Given the description of an element on the screen output the (x, y) to click on. 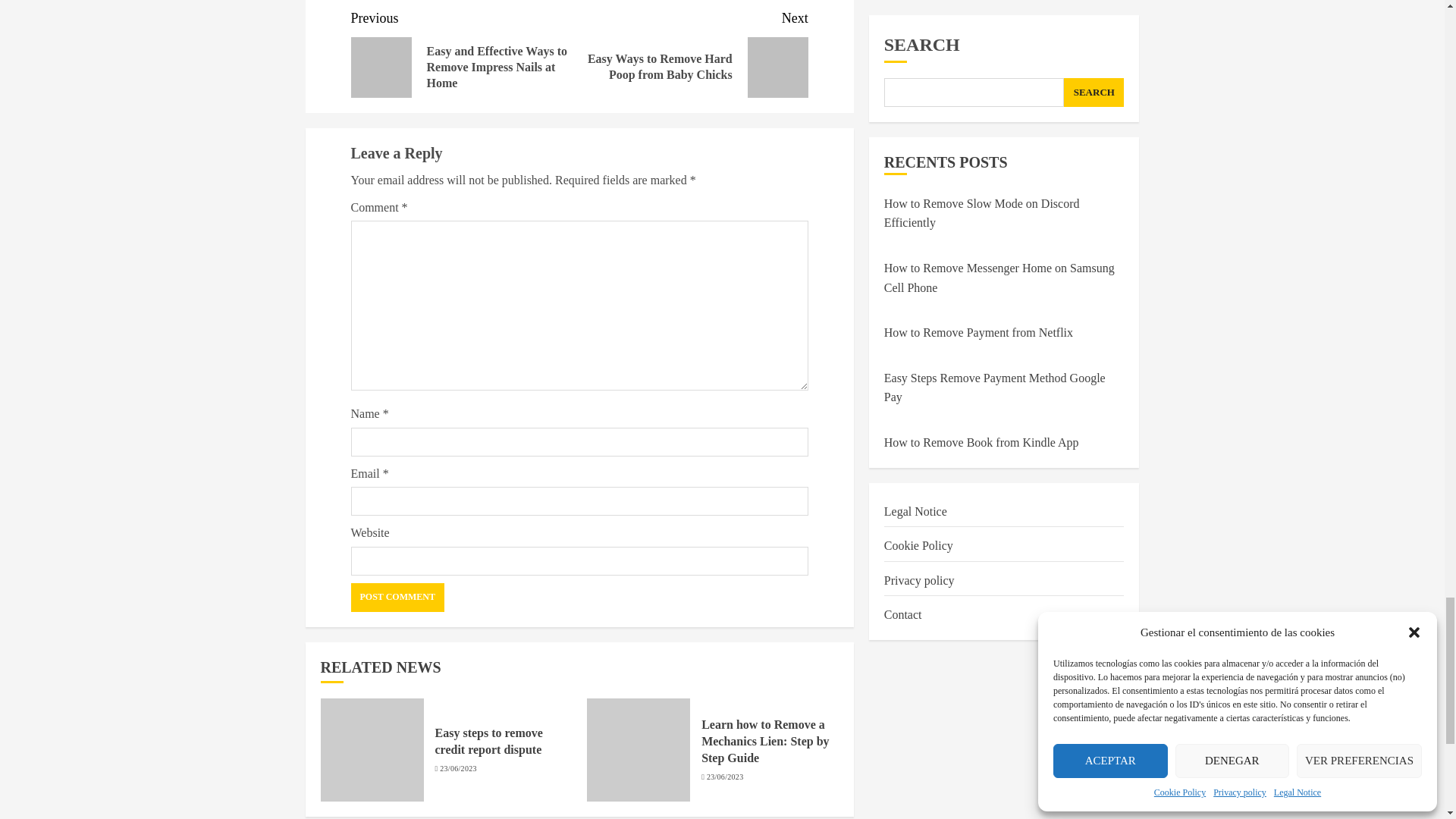
Post Comment (397, 597)
